Given the description of an element on the screen output the (x, y) to click on. 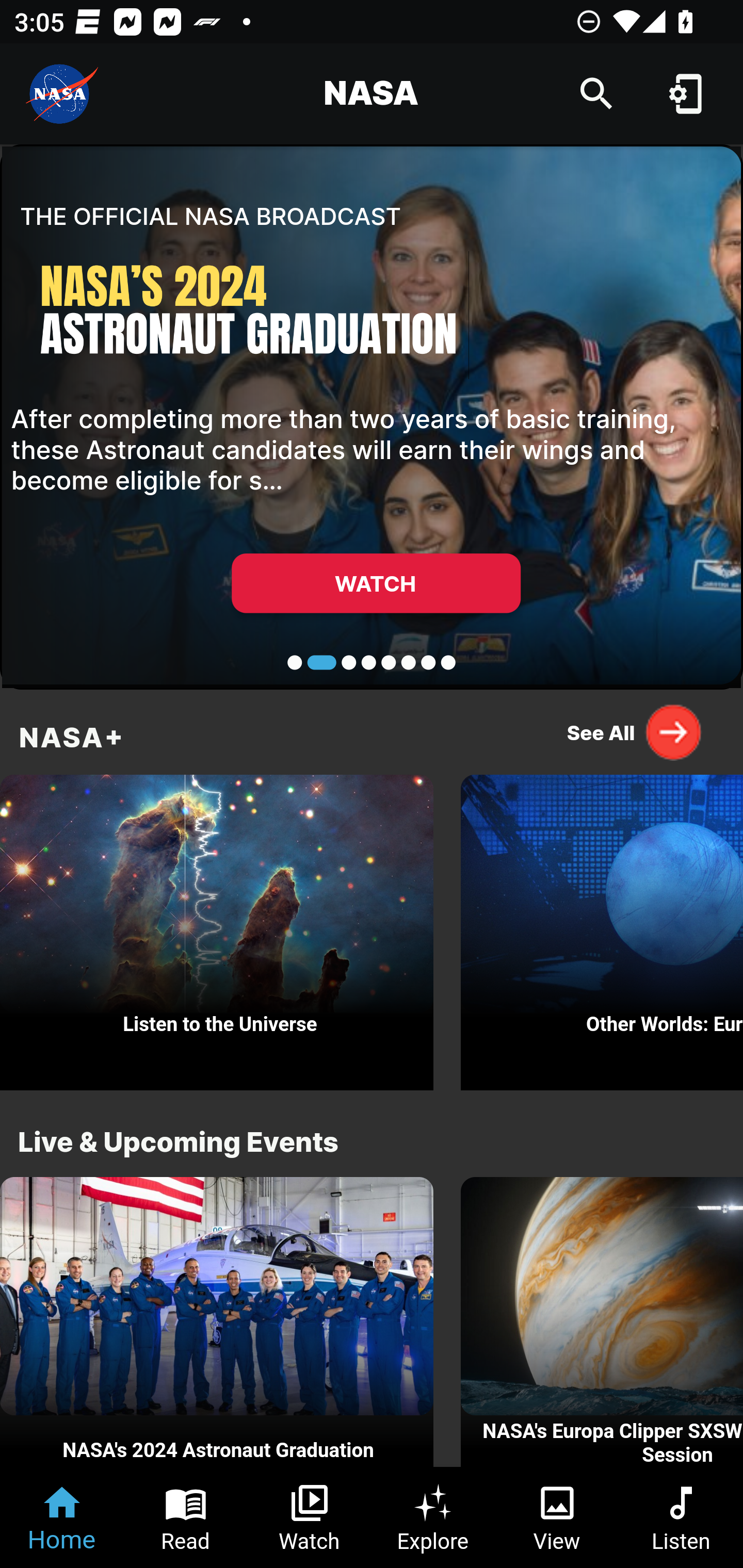
WATCH (375, 583)
See All (634, 732)
Listen to the Universe (216, 927)
Other Worlds: Europa (601, 927)
NASA's 2024 Astronaut Graduation (216, 1322)
NASA's Europa Clipper SXSW 2024 Opening Session (601, 1322)
Home
Tab 1 of 6 (62, 1517)
Read
Tab 2 of 6 (185, 1517)
Watch
Tab 3 of 6 (309, 1517)
Explore
Tab 4 of 6 (433, 1517)
View
Tab 5 of 6 (556, 1517)
Listen
Tab 6 of 6 (680, 1517)
